Given the description of an element on the screen output the (x, y) to click on. 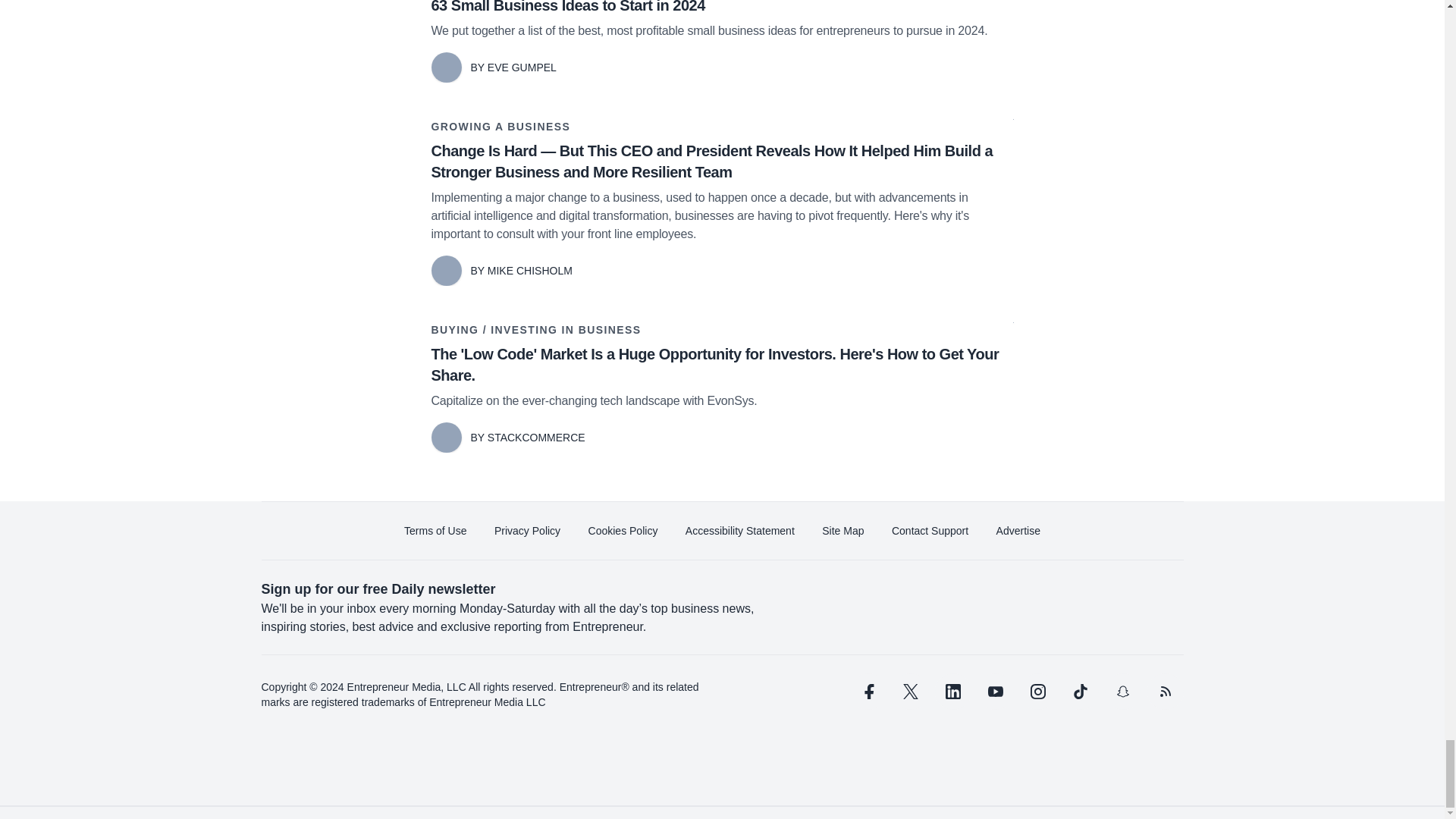
snapchat (1121, 691)
instagram (1037, 691)
twitter (909, 691)
youtube (994, 691)
facebook (866, 691)
linkedin (952, 691)
tiktok (1079, 691)
